Given the description of an element on the screen output the (x, y) to click on. 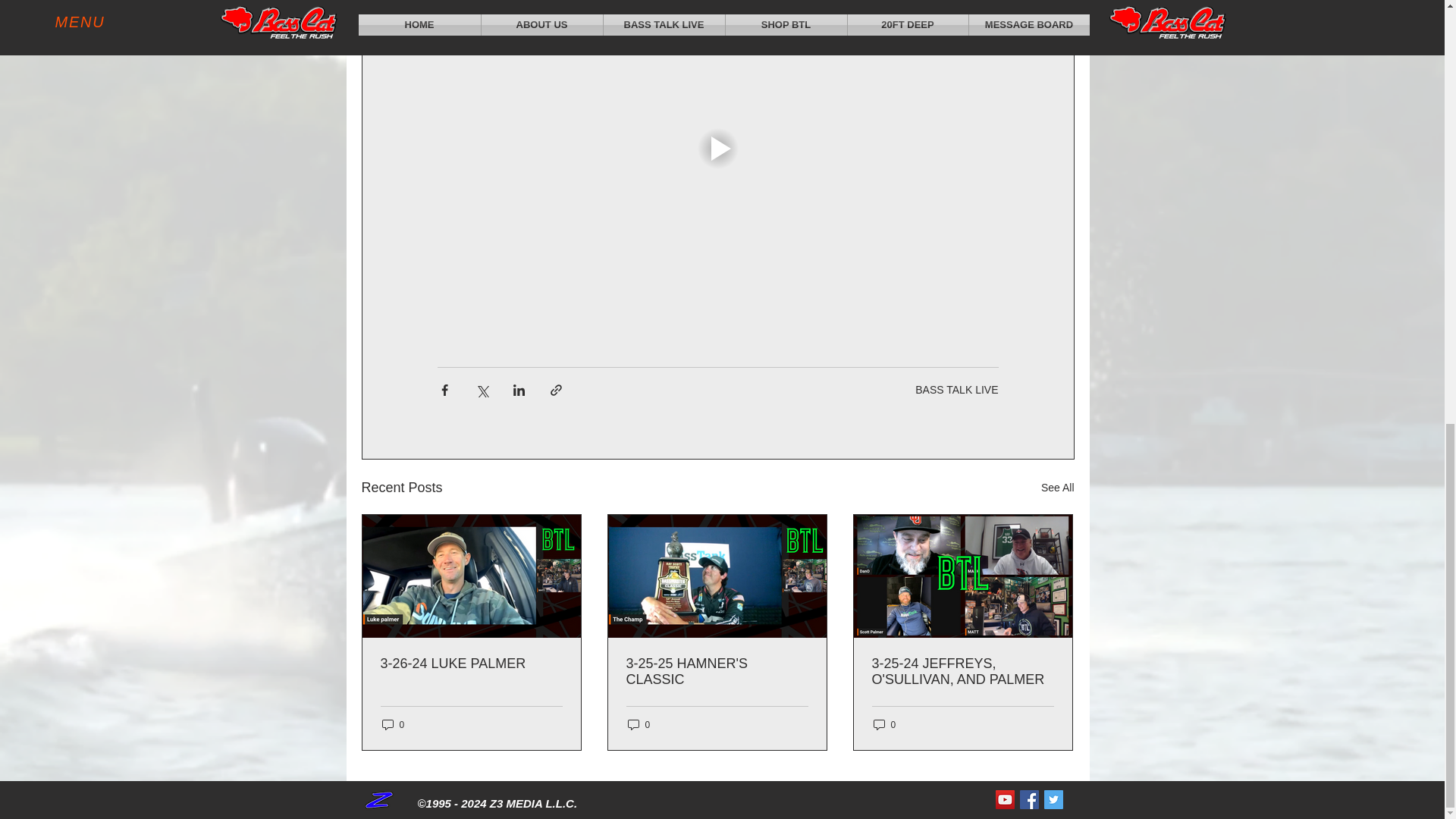
0 (885, 724)
3-26-24 LUKE PALMER (471, 663)
3-25-25 HAMNER'S CLASSIC (717, 671)
0 (393, 724)
0 (639, 724)
See All (1057, 487)
3-25-24 JEFFREYS, O'SULLIVAN, AND PALMER (963, 671)
BASS TALK LIVE (956, 389)
